Given the description of an element on the screen output the (x, y) to click on. 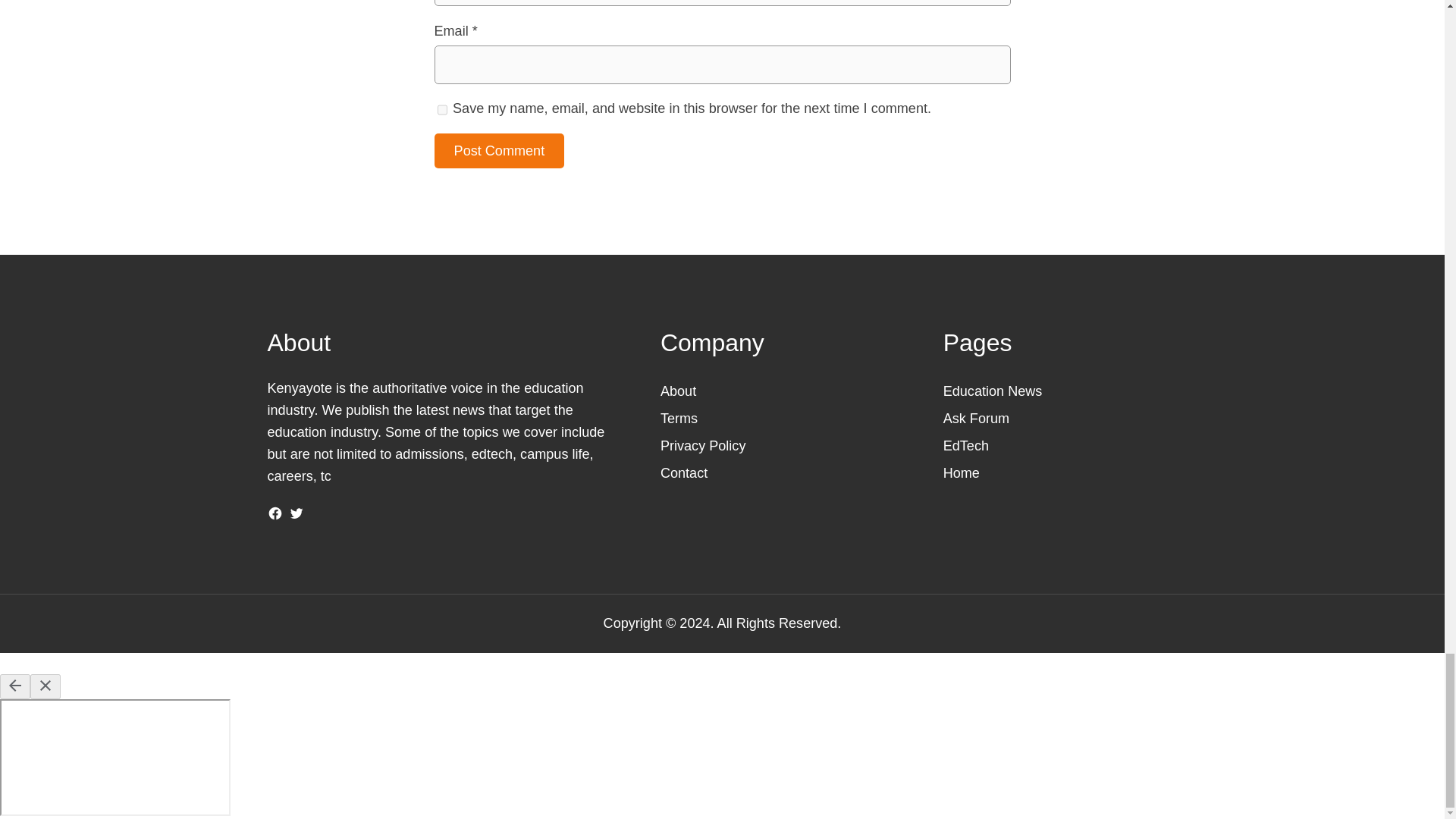
Twitter (295, 513)
Home (961, 473)
Education News (992, 391)
Privacy Policy (703, 445)
Ask Forum (976, 418)
Terms (679, 418)
EdTech (965, 445)
Post Comment (498, 150)
Post Comment (498, 150)
Facebook (274, 513)
About (678, 391)
Contact (684, 473)
